Given the description of an element on the screen output the (x, y) to click on. 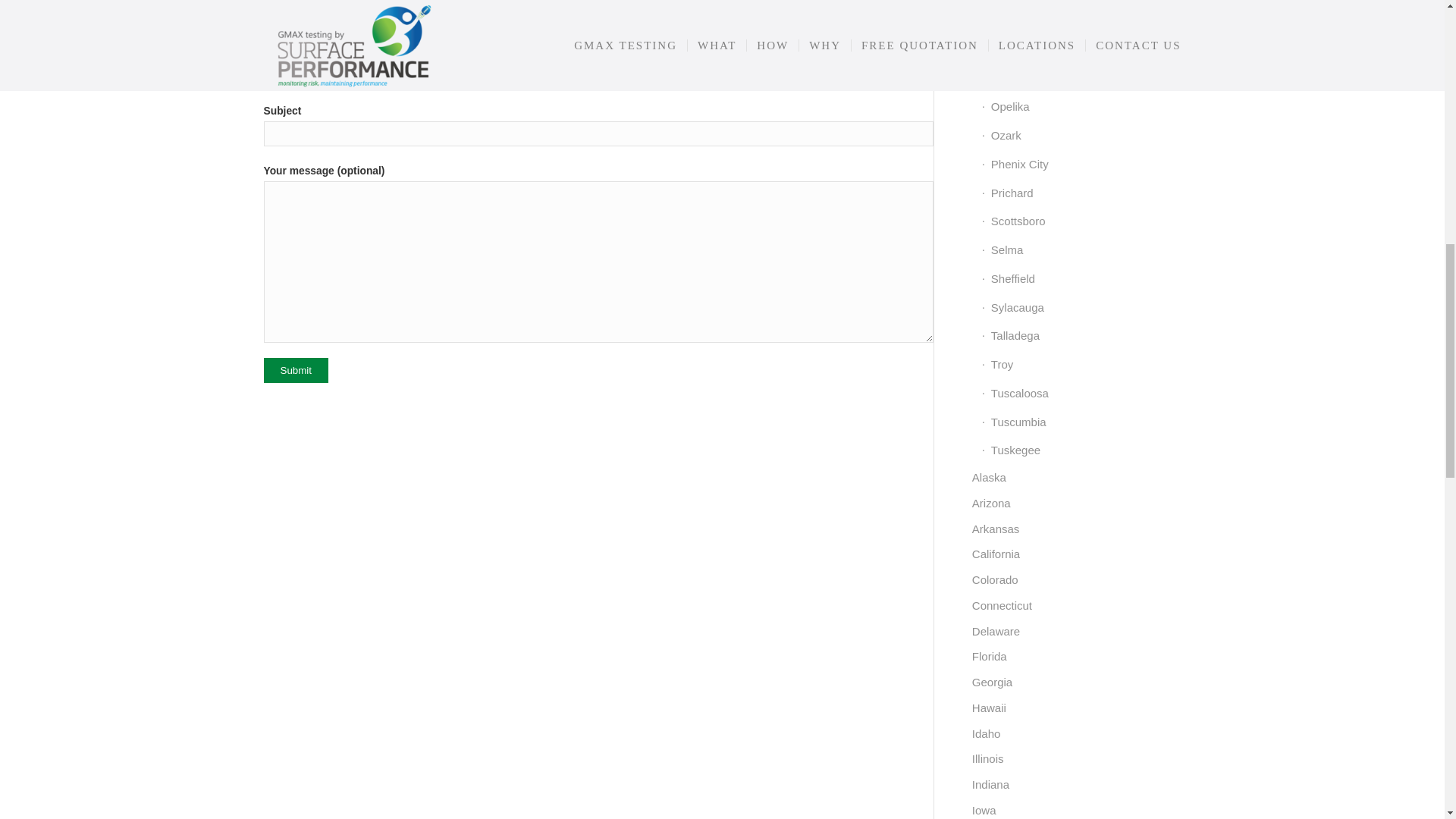
Submit (296, 370)
Jasper (1080, 3)
Submit (296, 370)
Marion (1080, 21)
